Given the description of an element on the screen output the (x, y) to click on. 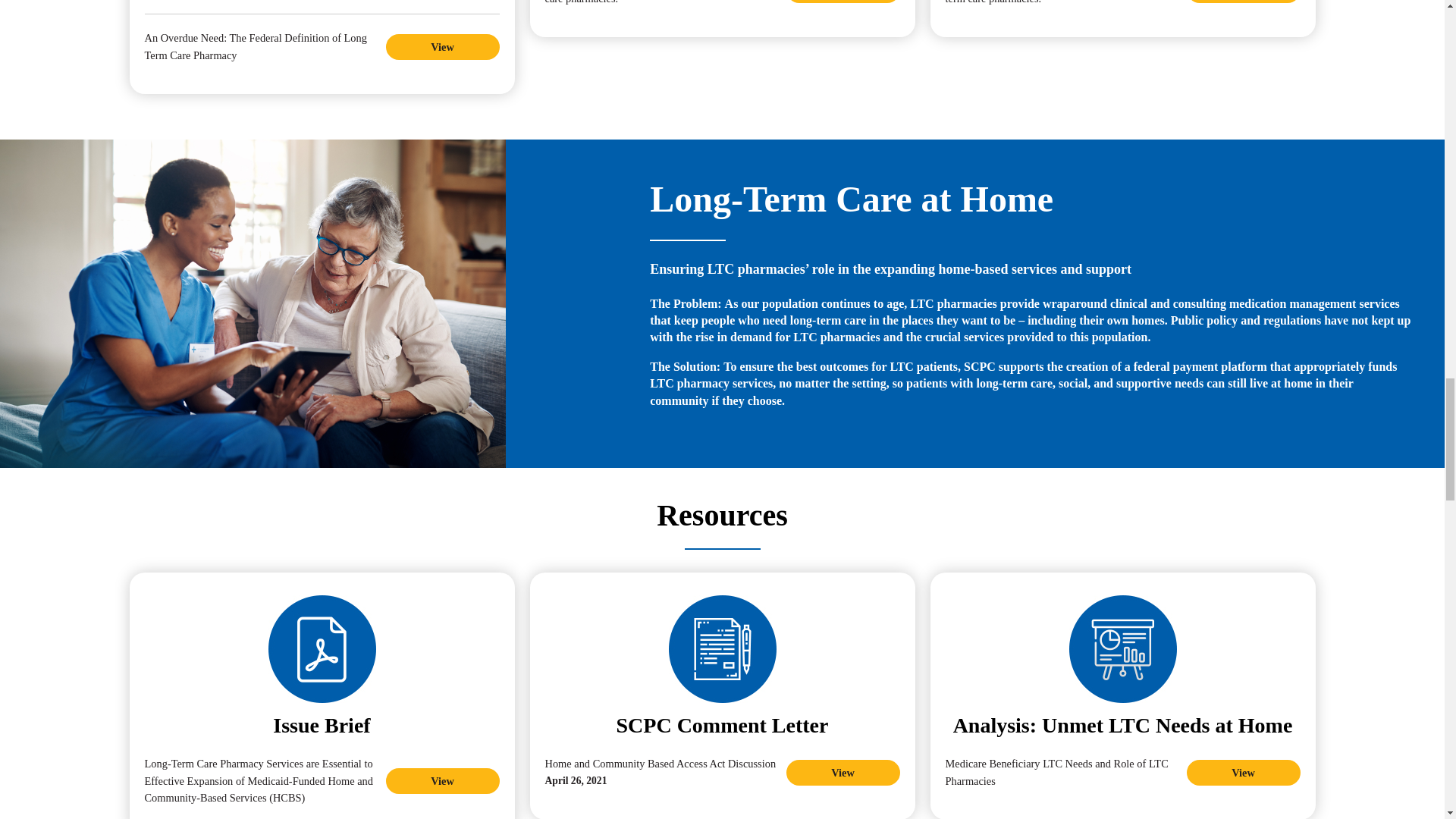
View (842, 1)
View (1243, 772)
View (1243, 1)
View (442, 780)
View (842, 772)
View (442, 46)
